Given the description of an element on the screen output the (x, y) to click on. 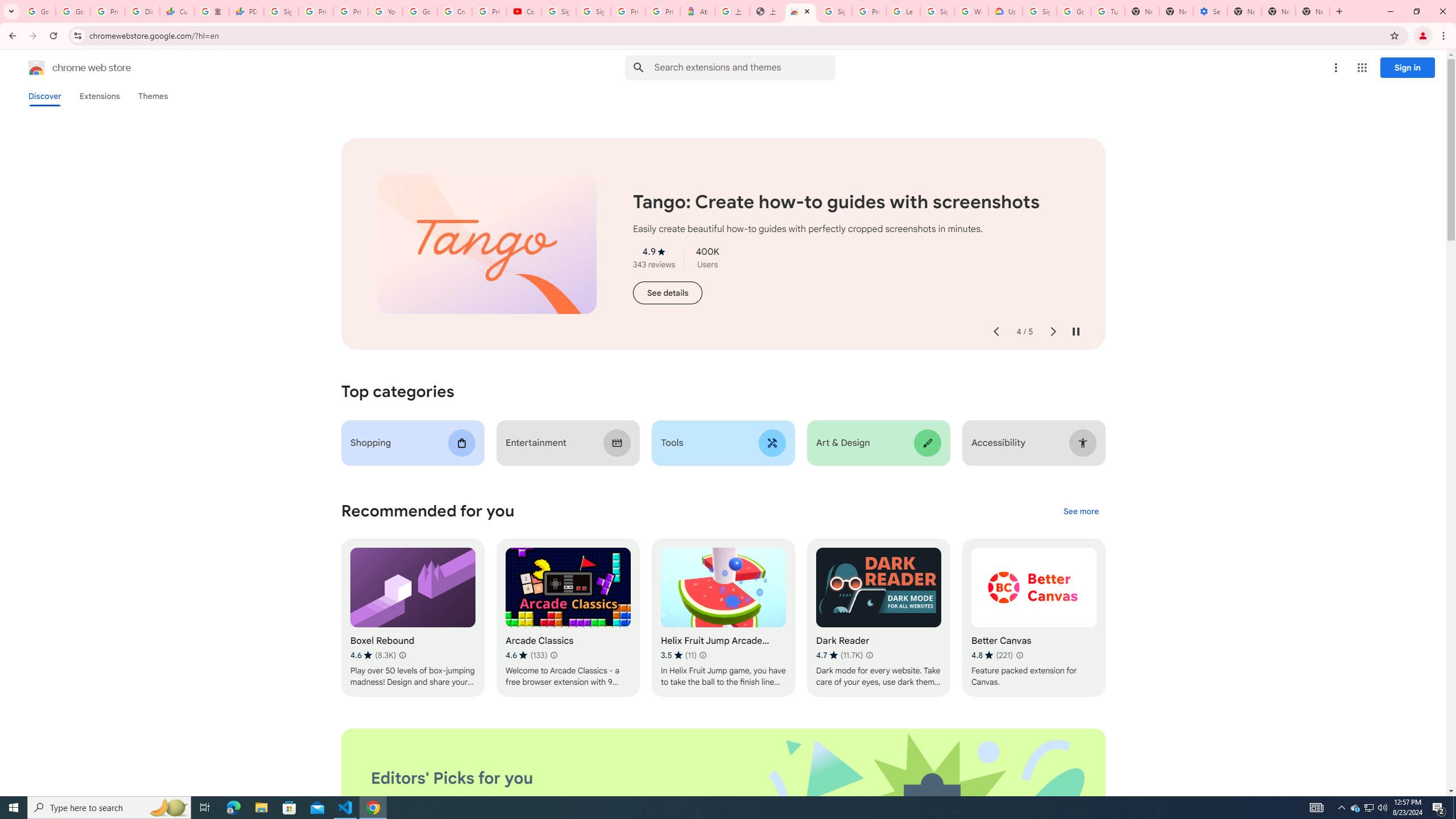
Currencies - Google Finance (176, 11)
Average rating 3.5 out of 5 stars. 11 ratings. (679, 655)
Learn more about results and reviews "Boxel Rebound" (402, 655)
Arcade Classics (567, 617)
Themes (152, 95)
Extensions (99, 95)
Better Canvas (1033, 617)
Turn cookies on or off - Computer - Google Account Help (1107, 11)
Pause auto-play (1075, 331)
